Given the description of an element on the screen output the (x, y) to click on. 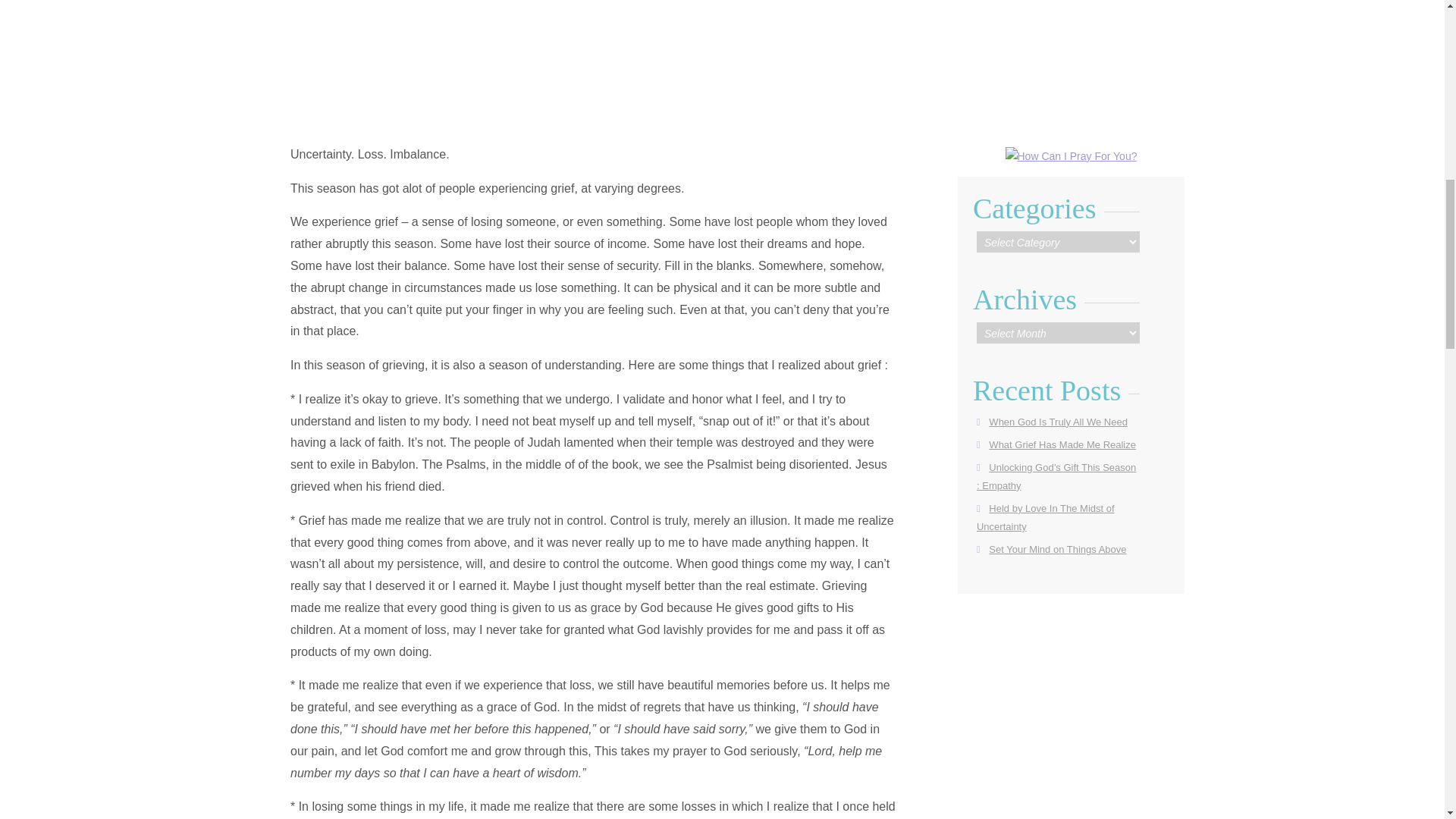
What Grief Has Made Me Realize (1061, 444)
Set Your Mind on Things Above (1056, 549)
When God Is Truly All We Need (1057, 421)
Held by Love In The Midst of Uncertainty (1045, 517)
